Given the description of an element on the screen output the (x, y) to click on. 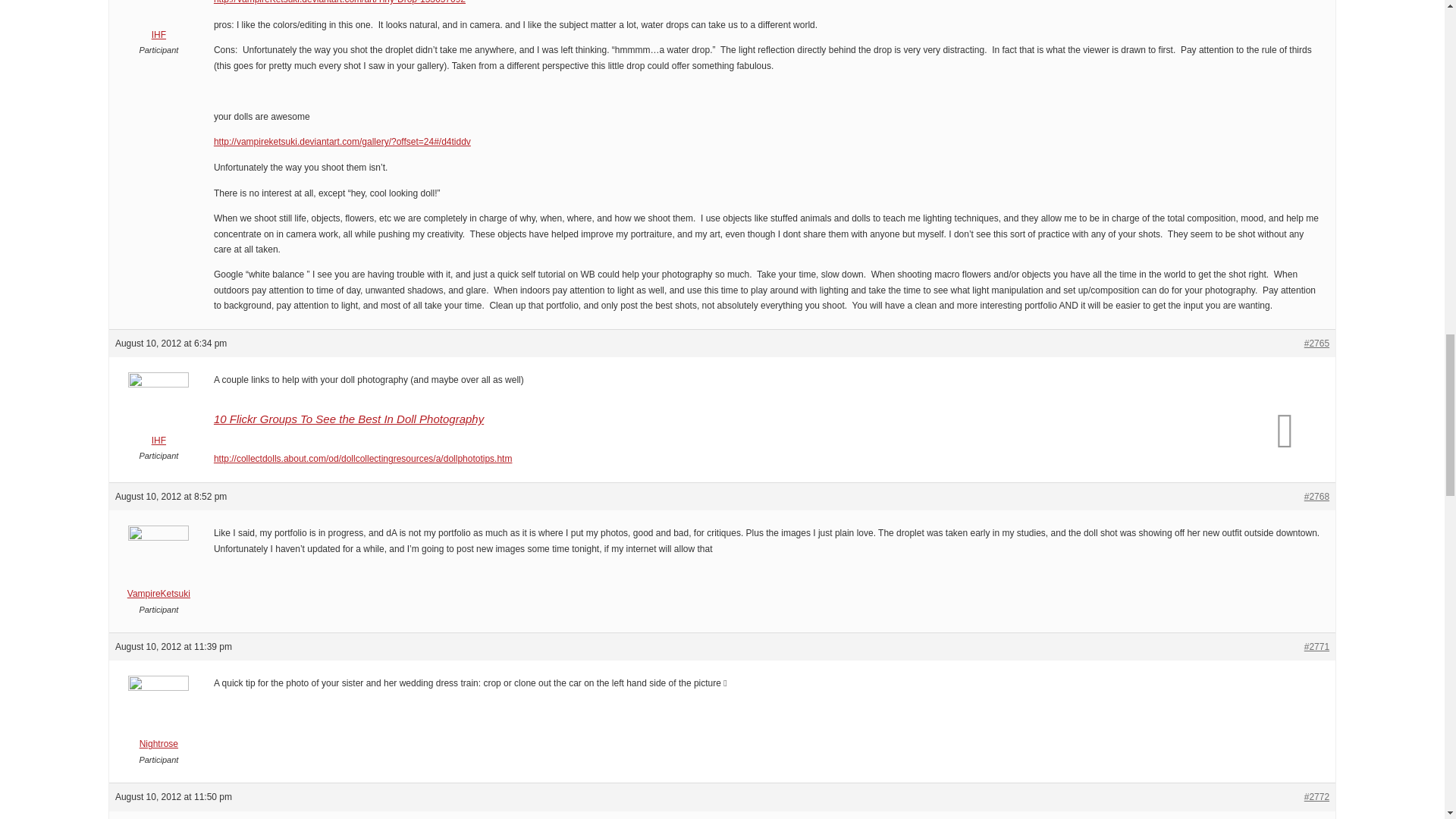
10 Flickr Groups To See the Best In Doll Photography (348, 418)
View IHF's profile (158, 413)
View Nightrose's profile (158, 716)
View IHF's profile (158, 21)
View VampireKetsuki's profile (158, 566)
IHF (158, 21)
IHF (158, 413)
